Given the description of an element on the screen output the (x, y) to click on. 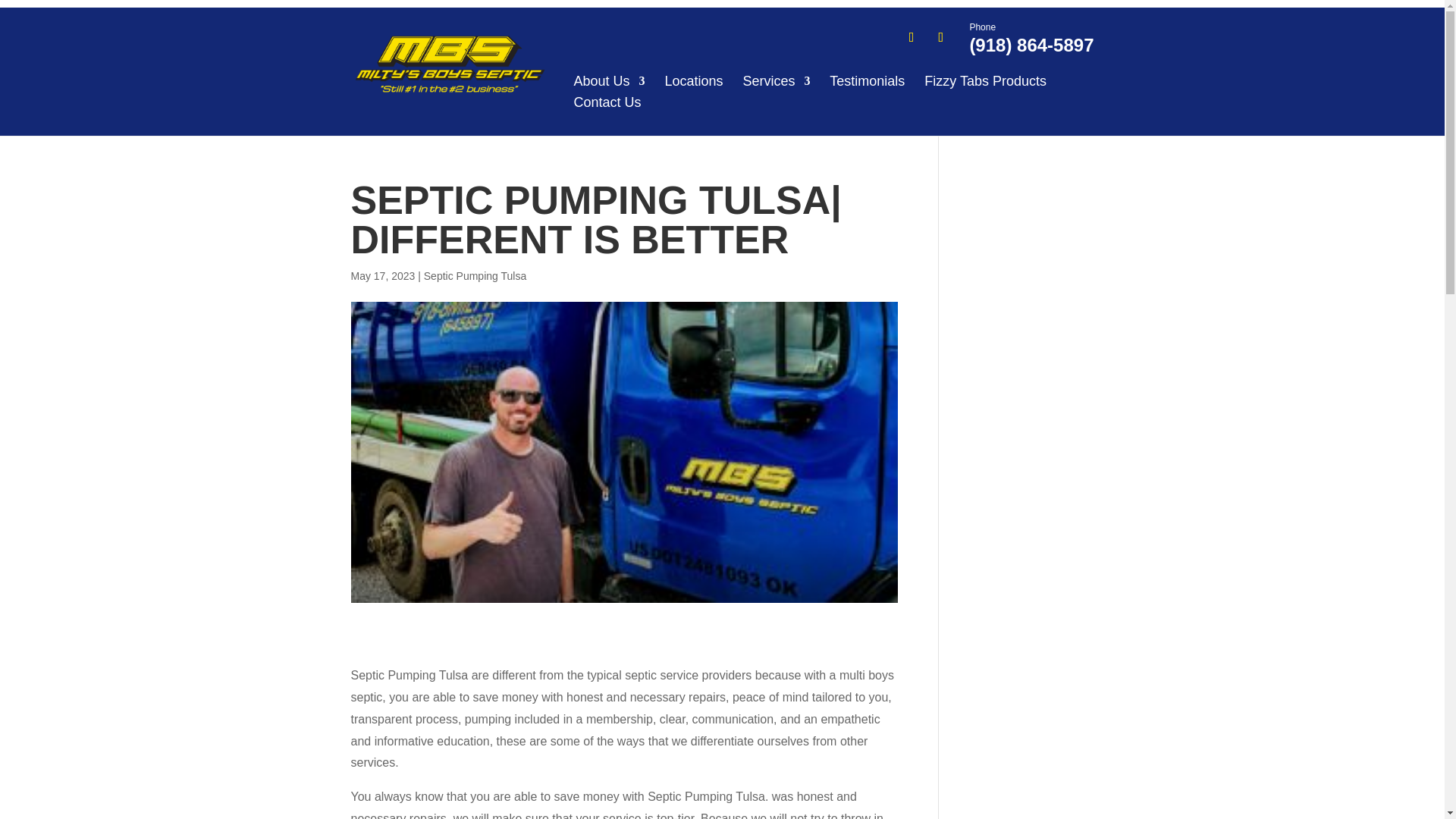
Septic Pumping Tulsa (474, 275)
Locations (692, 81)
Contact Us (606, 102)
Fizzy Tabs Products (985, 81)
Testimonials (866, 81)
Services (775, 81)
About Us (609, 81)
